Given the description of an element on the screen output the (x, y) to click on. 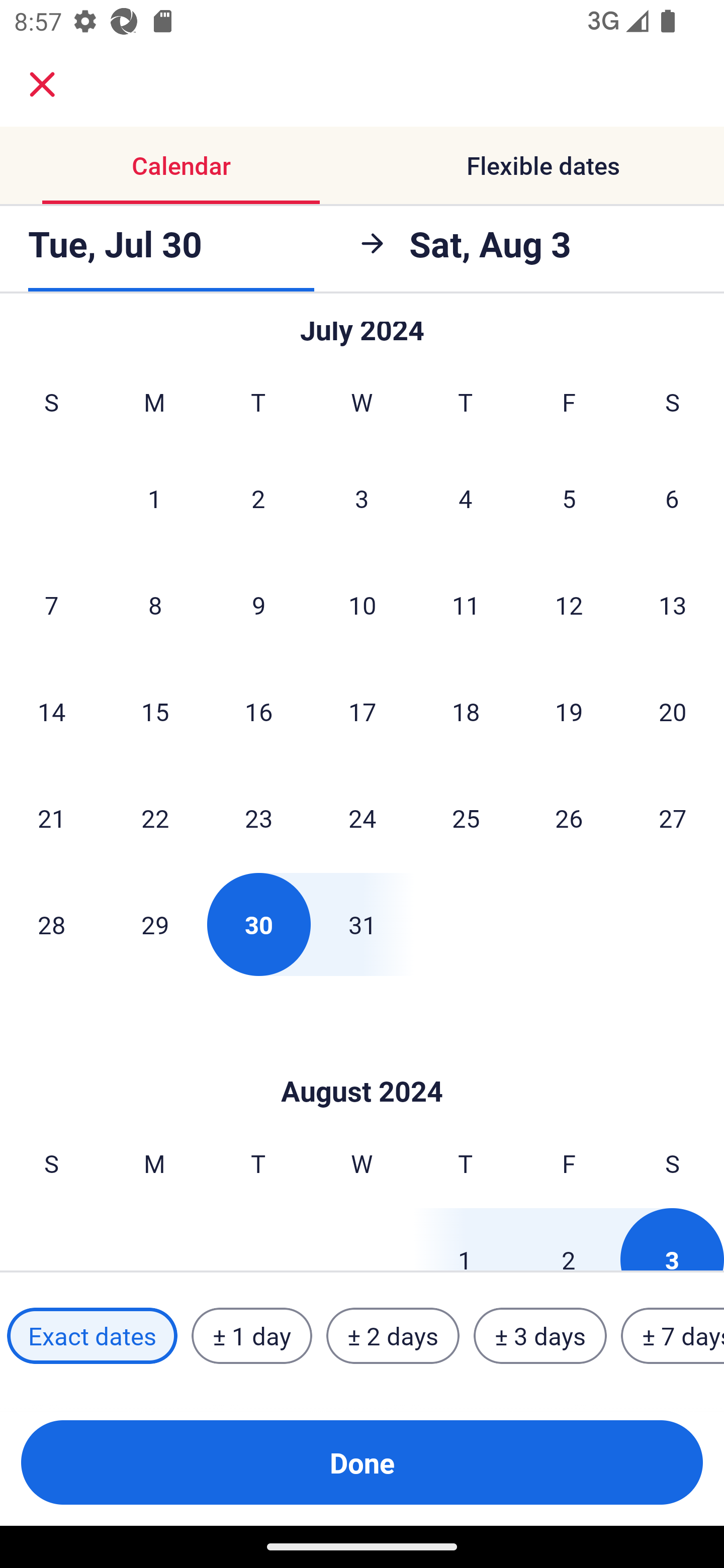
close. (42, 84)
Flexible dates (542, 164)
1 Monday, July 1, 2024 (154, 498)
2 Tuesday, July 2, 2024 (257, 498)
3 Wednesday, July 3, 2024 (361, 498)
4 Thursday, July 4, 2024 (465, 498)
5 Friday, July 5, 2024 (568, 498)
6 Saturday, July 6, 2024 (672, 498)
7 Sunday, July 7, 2024 (51, 604)
8 Monday, July 8, 2024 (155, 604)
9 Tuesday, July 9, 2024 (258, 604)
10 Wednesday, July 10, 2024 (362, 604)
11 Thursday, July 11, 2024 (465, 604)
12 Friday, July 12, 2024 (569, 604)
13 Saturday, July 13, 2024 (672, 604)
14 Sunday, July 14, 2024 (51, 711)
15 Monday, July 15, 2024 (155, 711)
16 Tuesday, July 16, 2024 (258, 711)
17 Wednesday, July 17, 2024 (362, 711)
18 Thursday, July 18, 2024 (465, 711)
19 Friday, July 19, 2024 (569, 711)
20 Saturday, July 20, 2024 (672, 711)
21 Sunday, July 21, 2024 (51, 817)
22 Monday, July 22, 2024 (155, 817)
23 Tuesday, July 23, 2024 (258, 817)
24 Wednesday, July 24, 2024 (362, 817)
25 Thursday, July 25, 2024 (465, 817)
26 Friday, July 26, 2024 (569, 817)
27 Saturday, July 27, 2024 (672, 817)
28 Sunday, July 28, 2024 (51, 924)
29 Monday, July 29, 2024 (155, 924)
Skip to Done (362, 1061)
Exact dates (92, 1335)
± 1 day (251, 1335)
± 2 days (392, 1335)
± 3 days (539, 1335)
± 7 days (672, 1335)
Done (361, 1462)
